Given the description of an element on the screen output the (x, y) to click on. 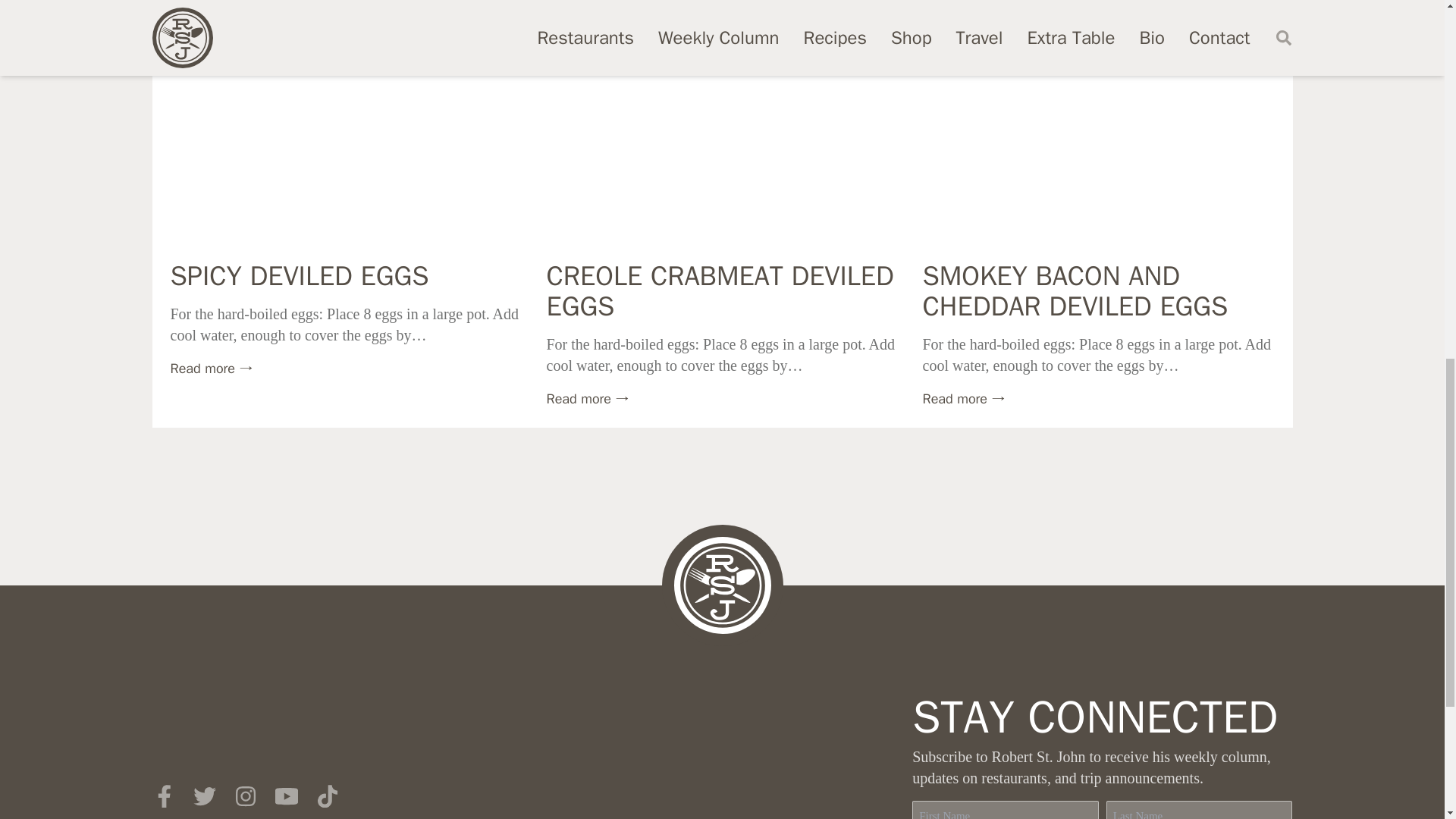
Read more (962, 398)
SPICY DEVILED EGGS (299, 275)
CREOLE CRABMEAT DEVILED EGGS (719, 290)
Instagram (244, 795)
Youtube (286, 795)
Twitter (203, 795)
Read more (587, 398)
Facebook (162, 795)
Read more (210, 368)
TikTok (326, 795)
